Given the description of an element on the screen output the (x, y) to click on. 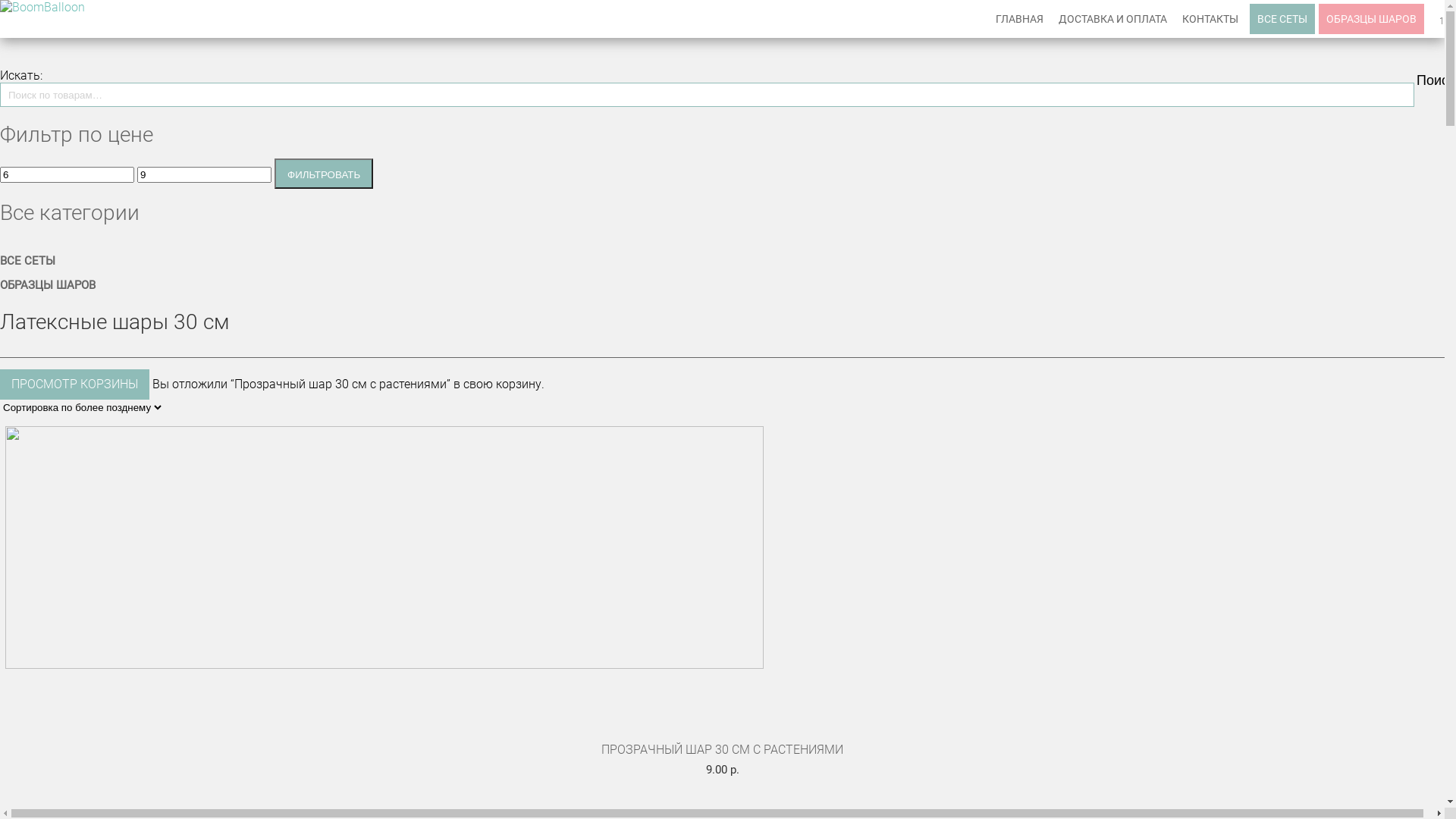
1 Element type: text (1441, 18)
BoomBalloon Element type: hover (42, 7)
